Given the description of an element on the screen output the (x, y) to click on. 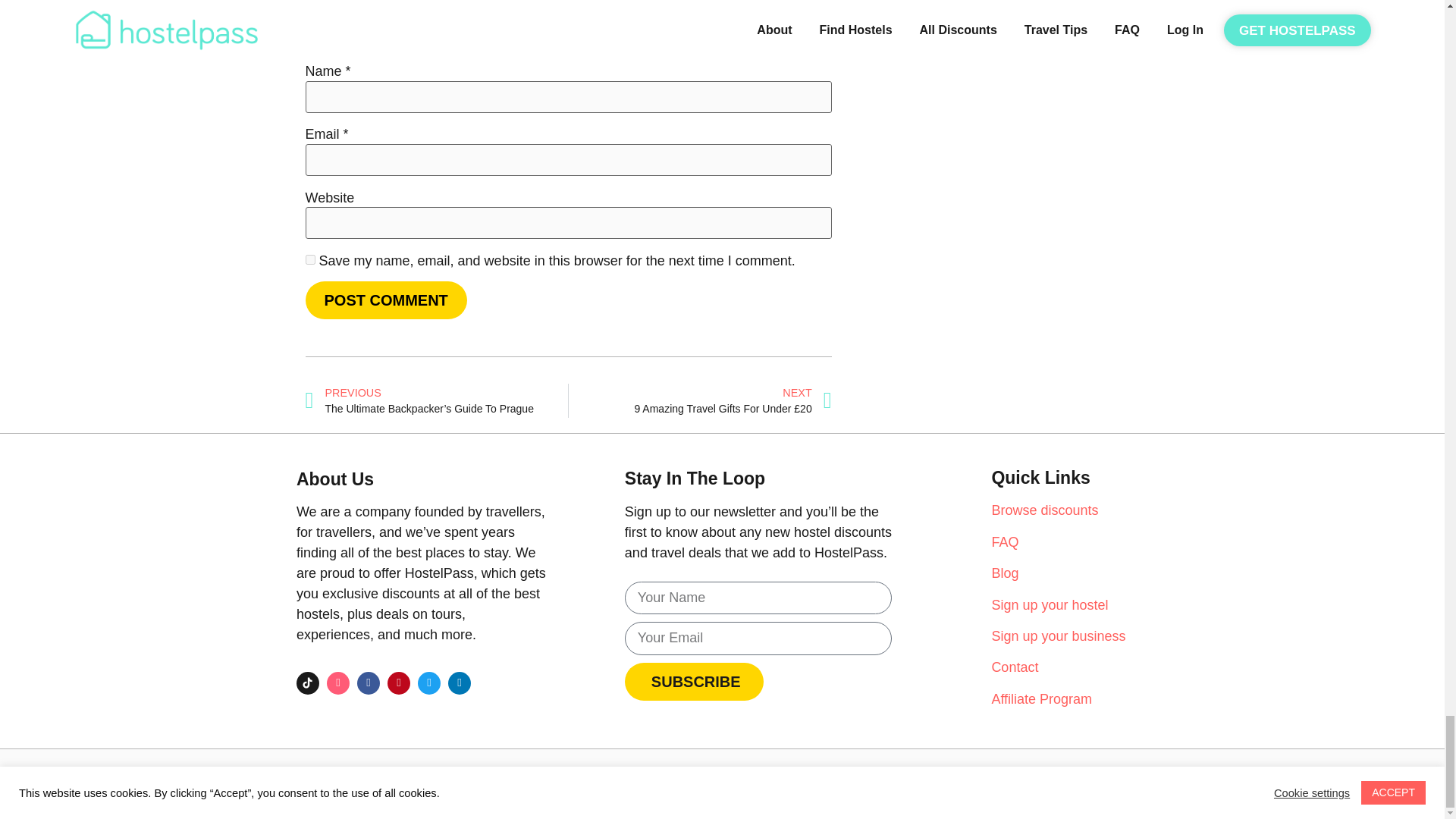
yes (309, 259)
Post Comment (384, 300)
